Given the description of an element on the screen output the (x, y) to click on. 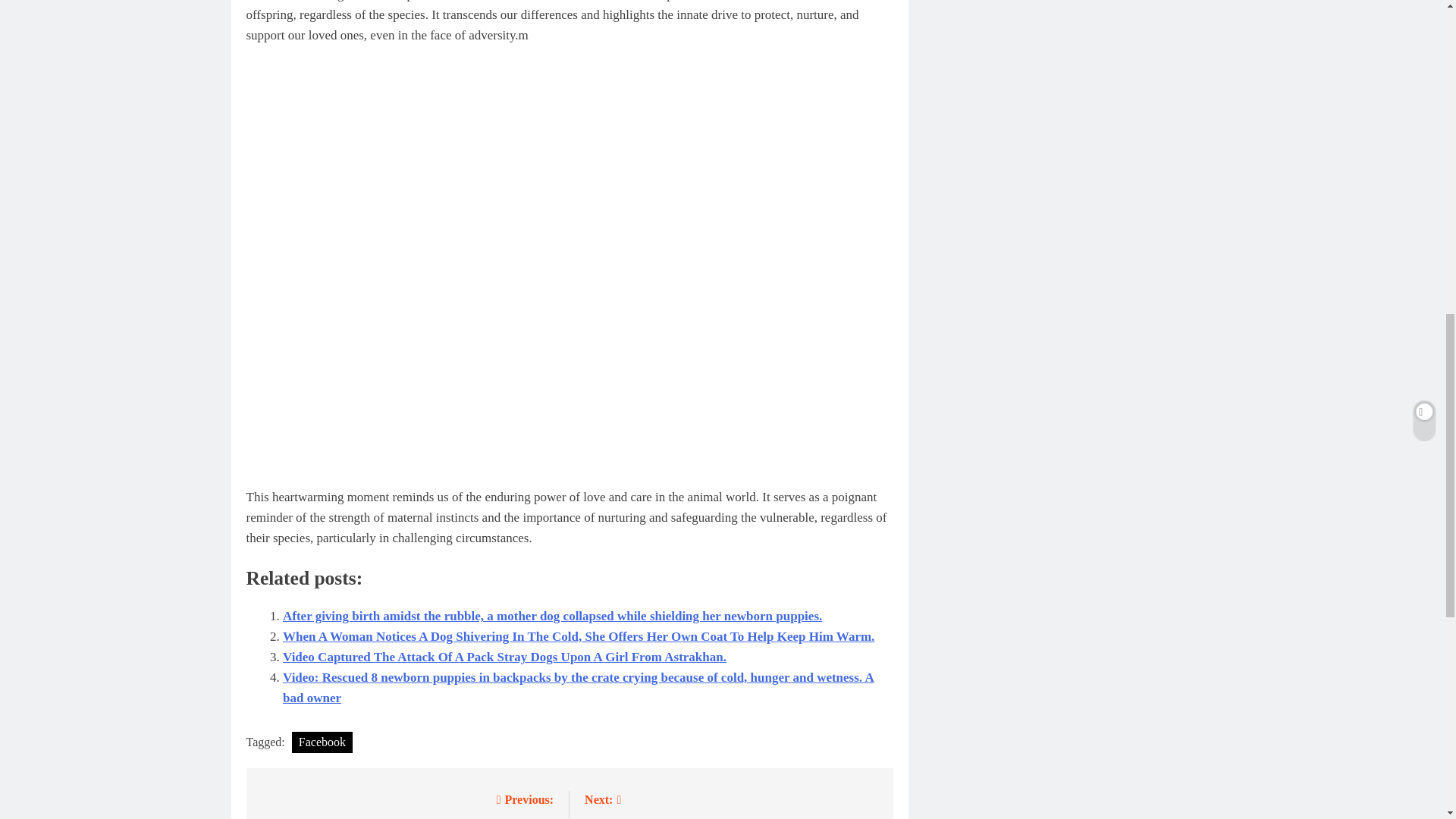
Facebook (322, 742)
